Given the description of an element on the screen output the (x, y) to click on. 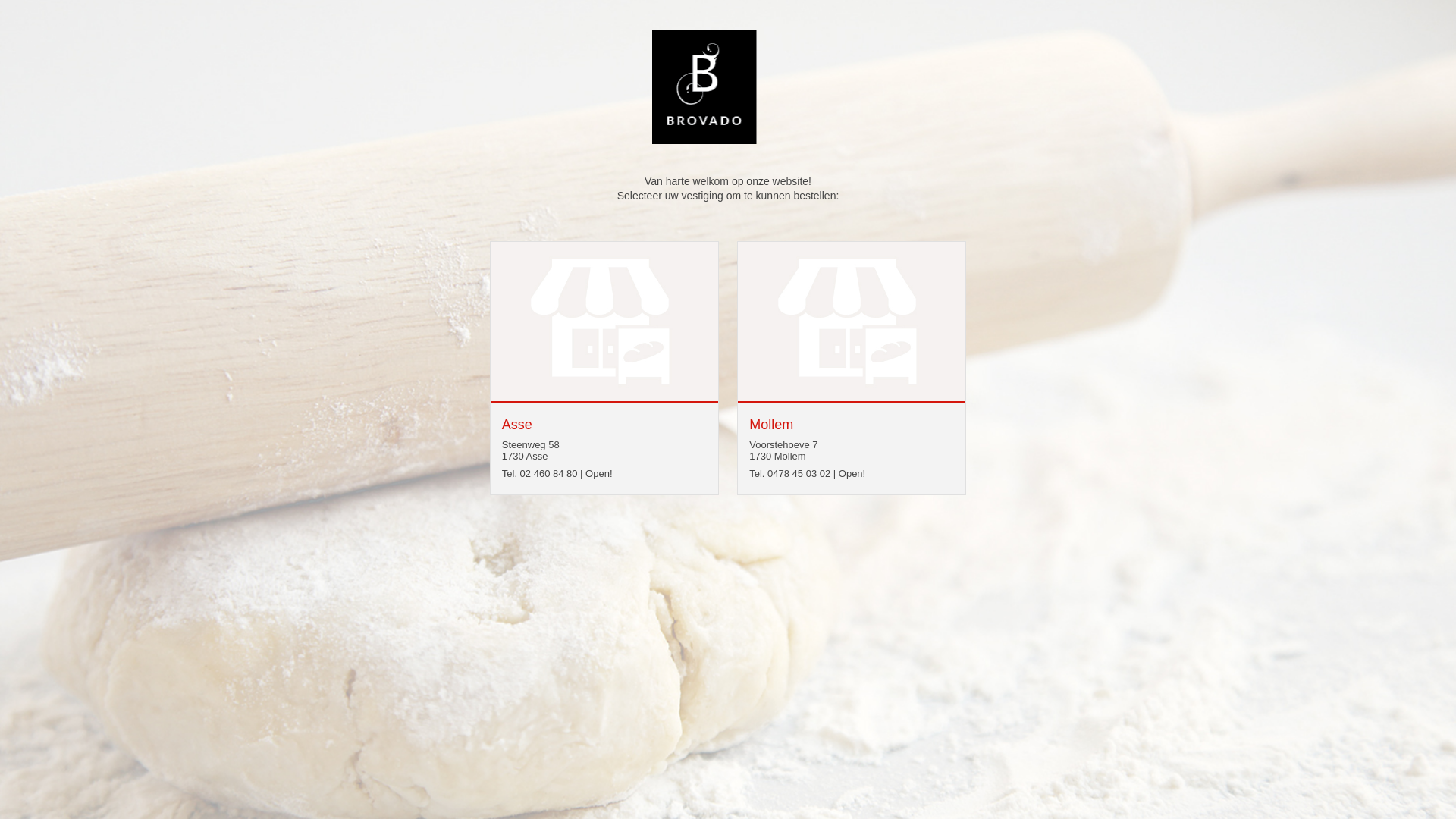
Mollem
Voorstehoeve 7
1730 Mollem
Tel. 0478 45 03 02 | Open! Element type: text (851, 444)
Asse
Steenweg 58
1730 Asse
Tel. 02 460 84 80 | Open! Element type: text (604, 444)
